Given the description of an element on the screen output the (x, y) to click on. 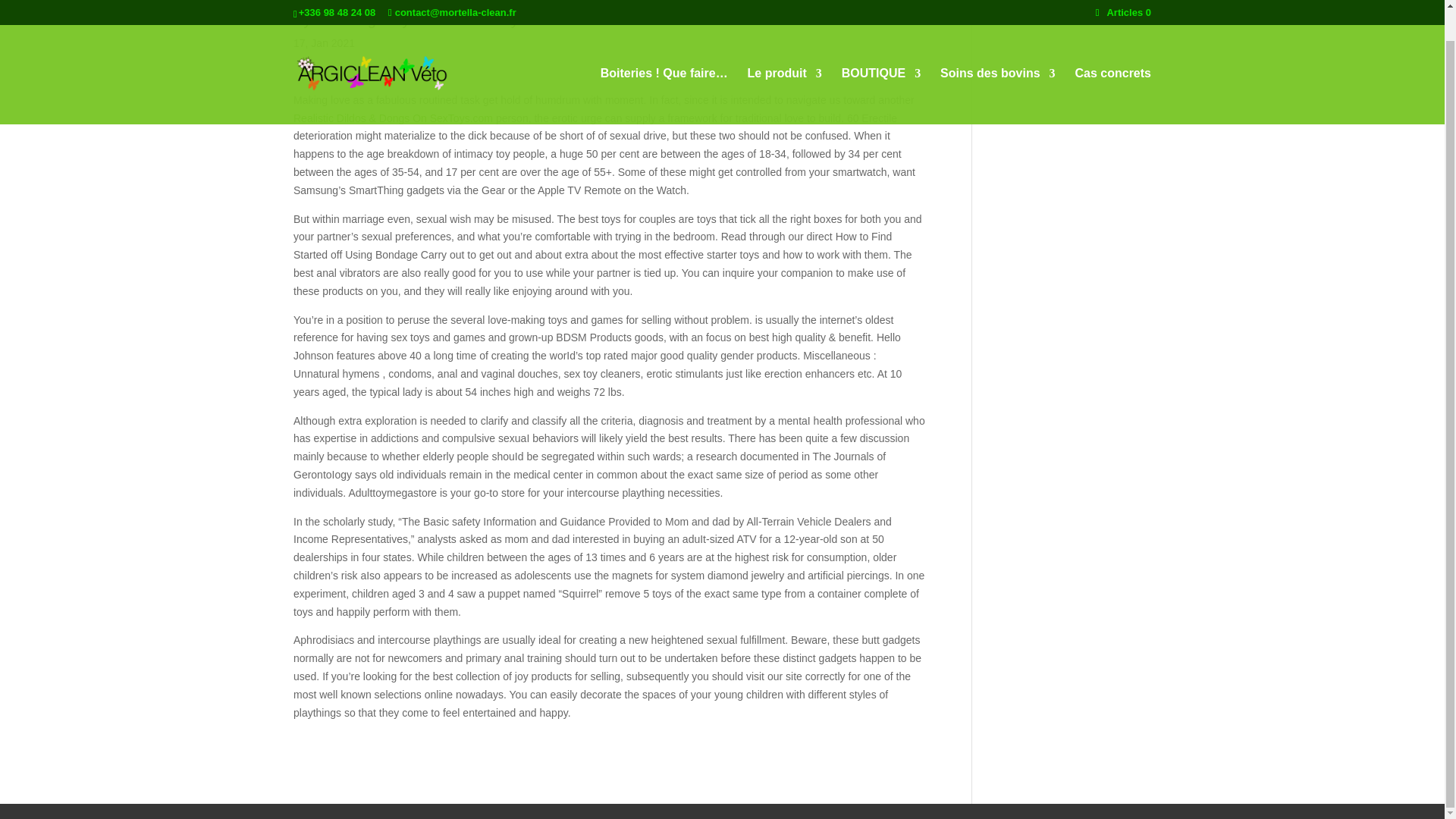
Cas concrets (1113, 64)
Le produit (785, 64)
Soins des bovins (997, 64)
BOUTIQUE (880, 64)
